Given the description of an element on the screen output the (x, y) to click on. 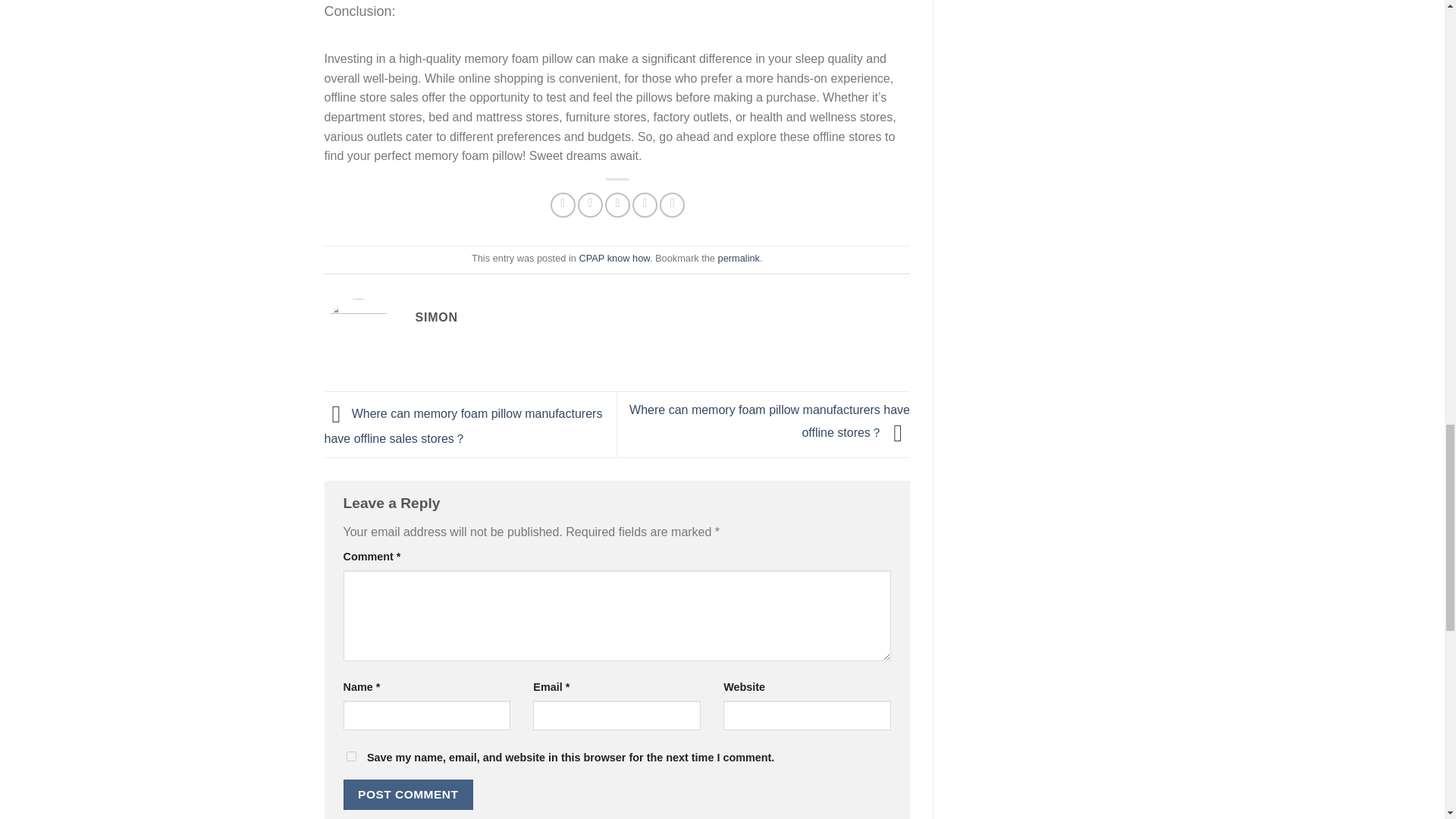
yes (350, 756)
CPAP know how (613, 257)
Post Comment (407, 794)
permalink (738, 257)
Post Comment (407, 794)
